Given the description of an element on the screen output the (x, y) to click on. 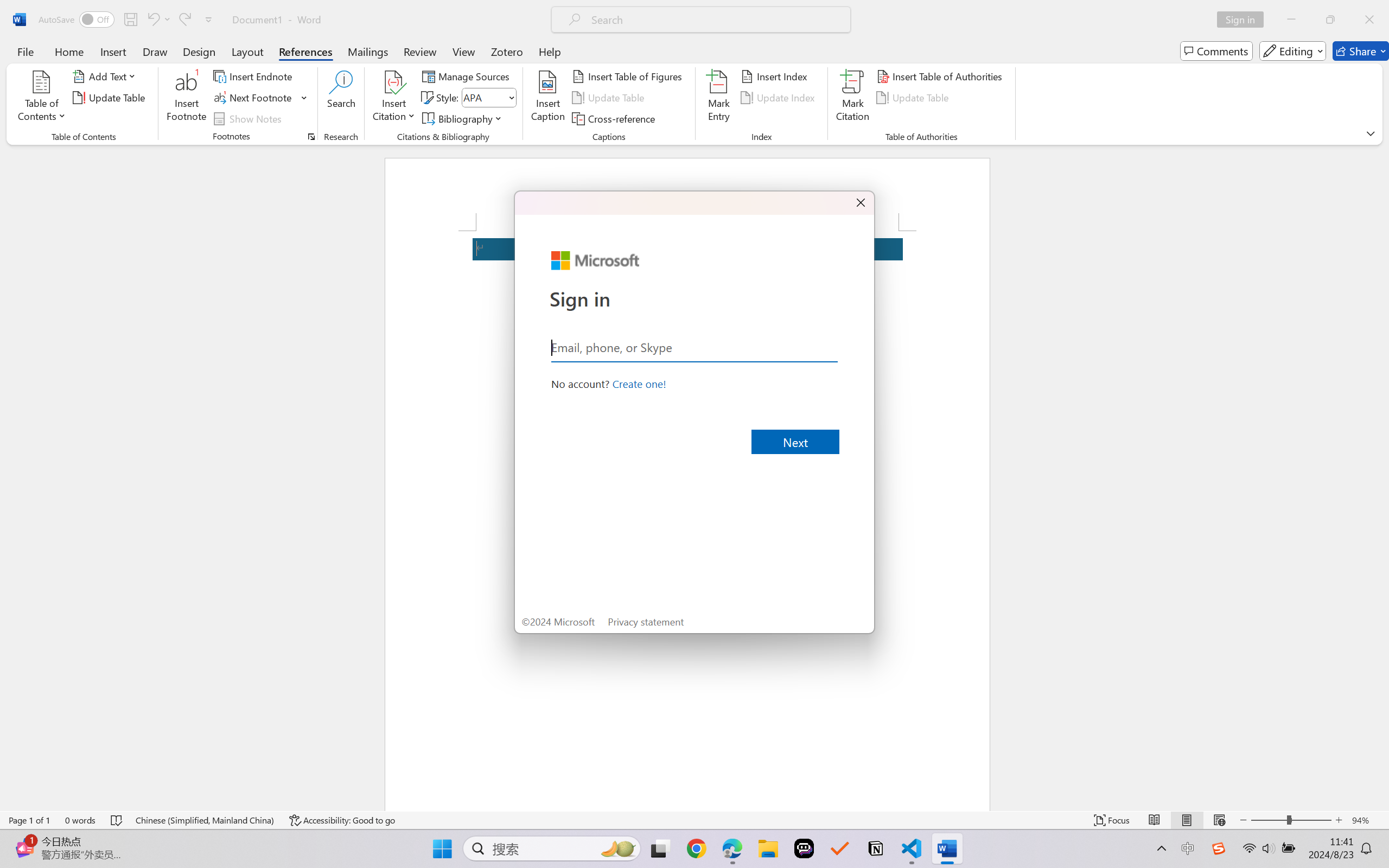
Insert Table of Figures... (628, 75)
Mark Entry... (718, 97)
Cross-reference... (615, 118)
Next Footnote (253, 97)
